Given the description of an element on the screen output the (x, y) to click on. 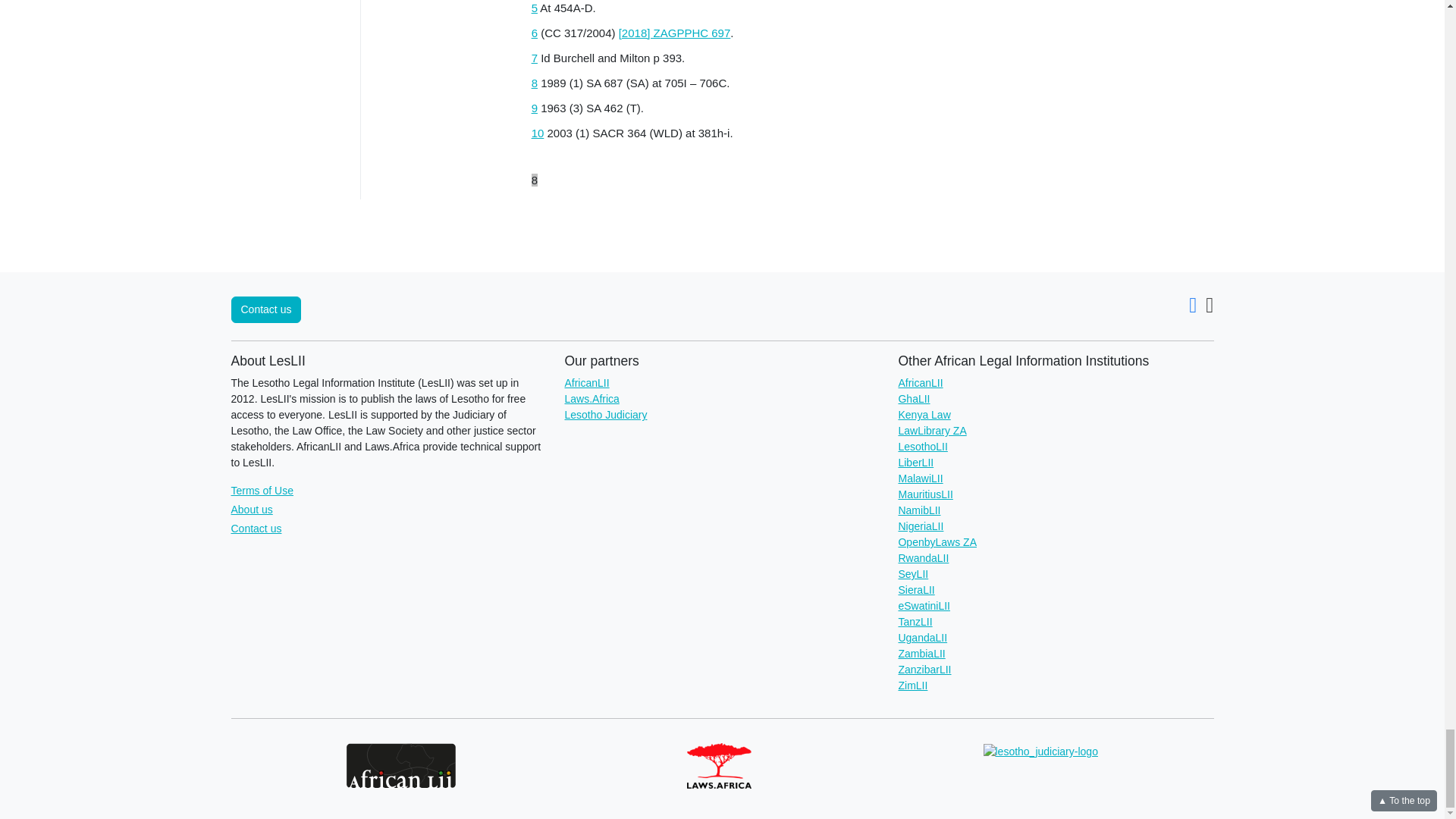
footer (825, 186)
